Given the description of an element on the screen output the (x, y) to click on. 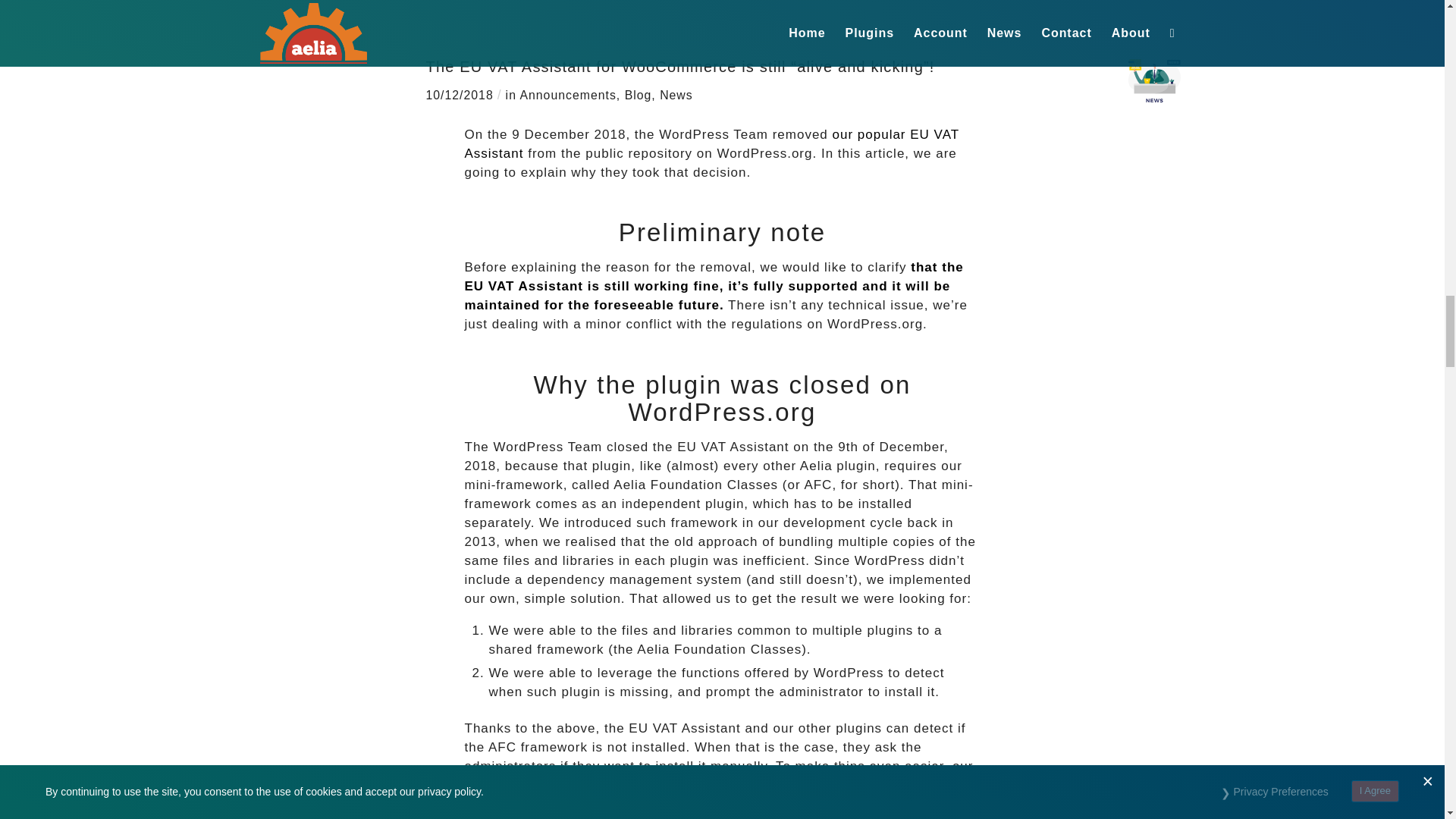
Announcements (567, 94)
News (676, 94)
Blog (638, 94)
